Given the description of an element on the screen output the (x, y) to click on. 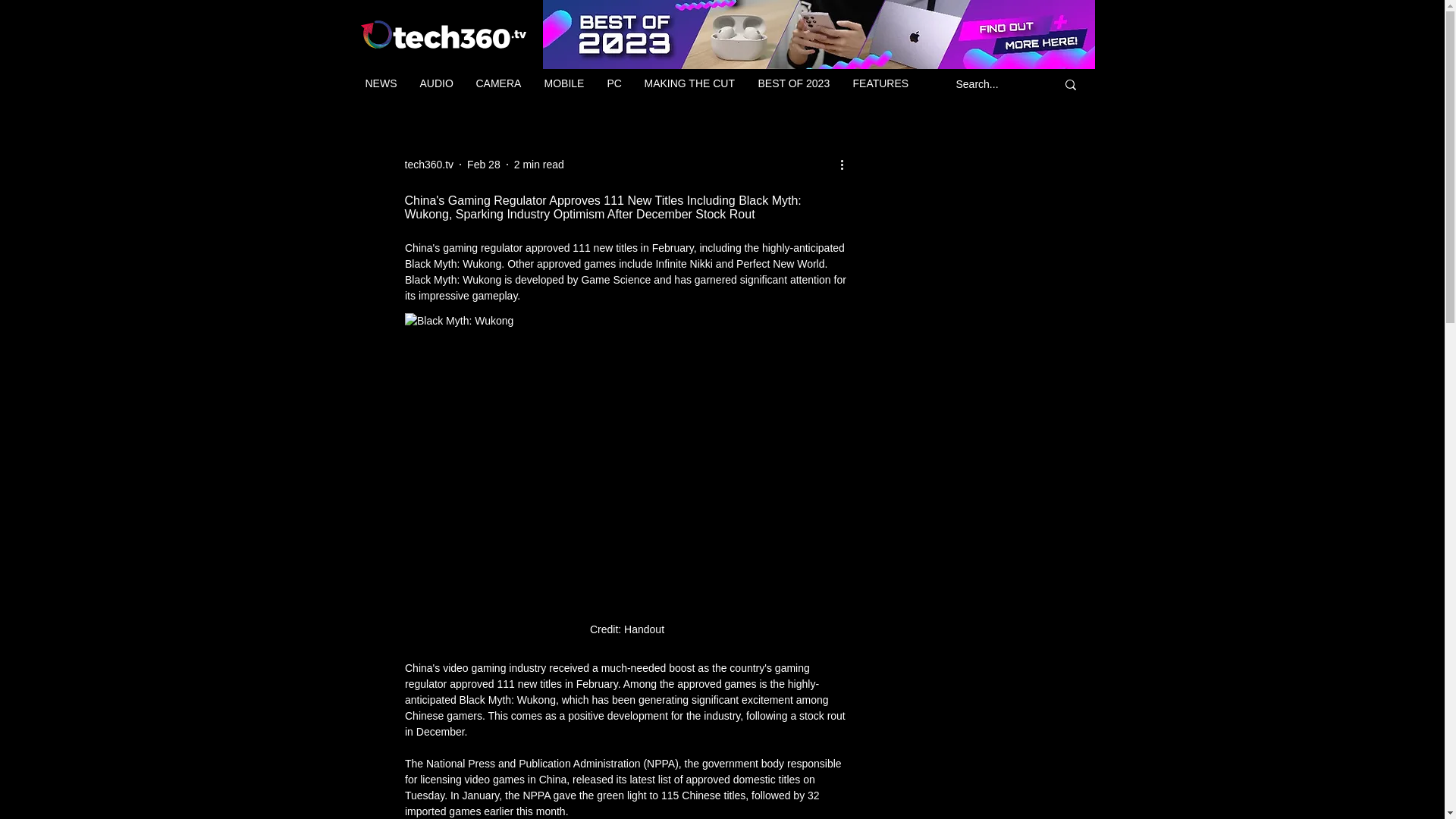
NEWS (380, 83)
MOBILE (563, 83)
tech360.tv (429, 163)
CAMERA (498, 83)
Feb 28 (483, 163)
AUDIO (435, 83)
2 min read (538, 163)
BEST OF 2023 (793, 83)
MAKING THE CUT (688, 83)
